Given the description of an element on the screen output the (x, y) to click on. 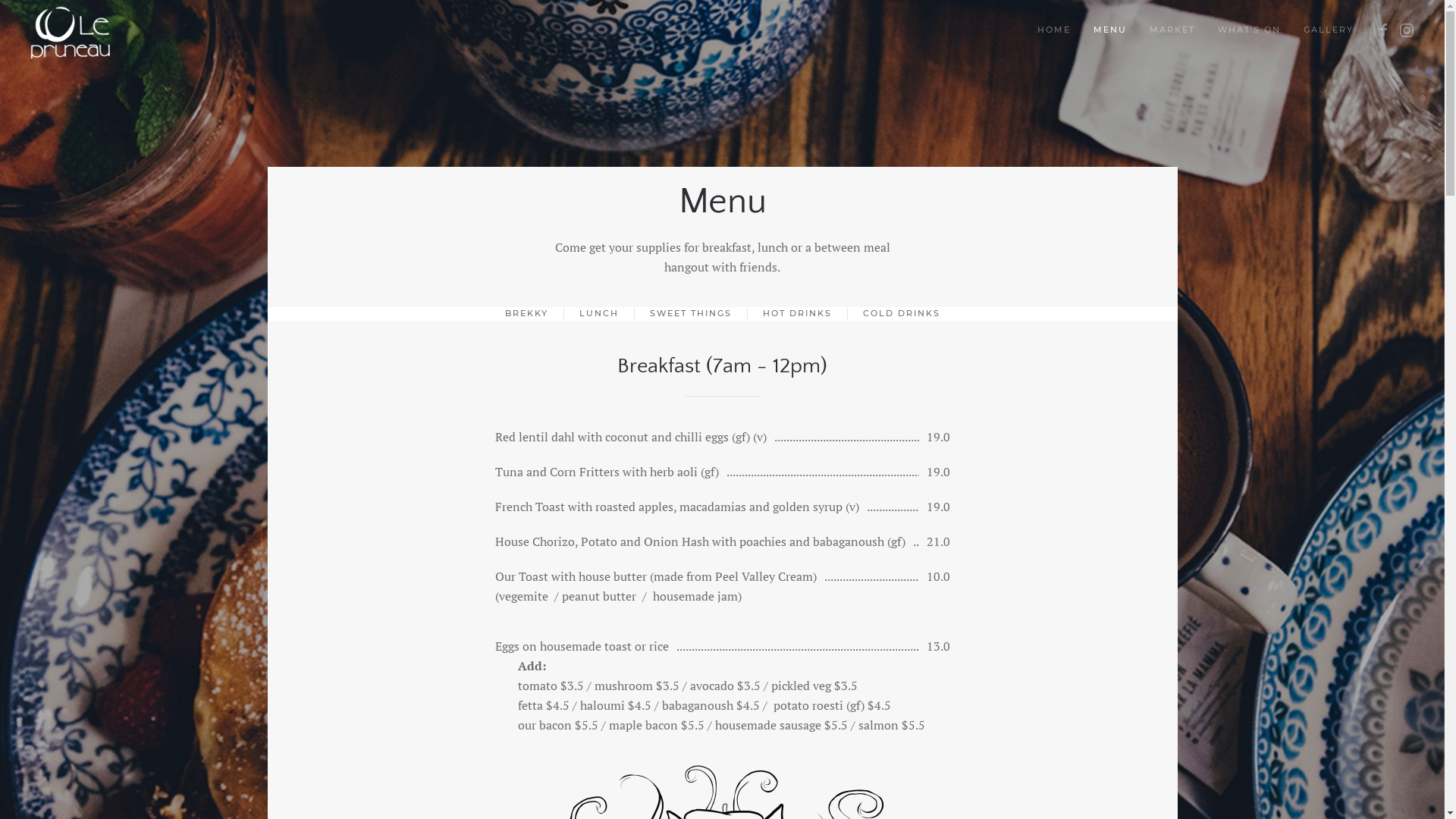
SWEET THINGS Element type: text (690, 313)
HOME Element type: text (1054, 30)
HOT DRINKS Element type: text (796, 313)
WHAT'S ON Element type: text (1249, 30)
COLD DRINKS Element type: text (901, 313)
LUNCH Element type: text (598, 313)
BREKKY Element type: text (526, 313)
MARKET Element type: text (1172, 30)
MENU Element type: text (1110, 30)
GALLERY Element type: text (1328, 30)
